Given the description of an element on the screen output the (x, y) to click on. 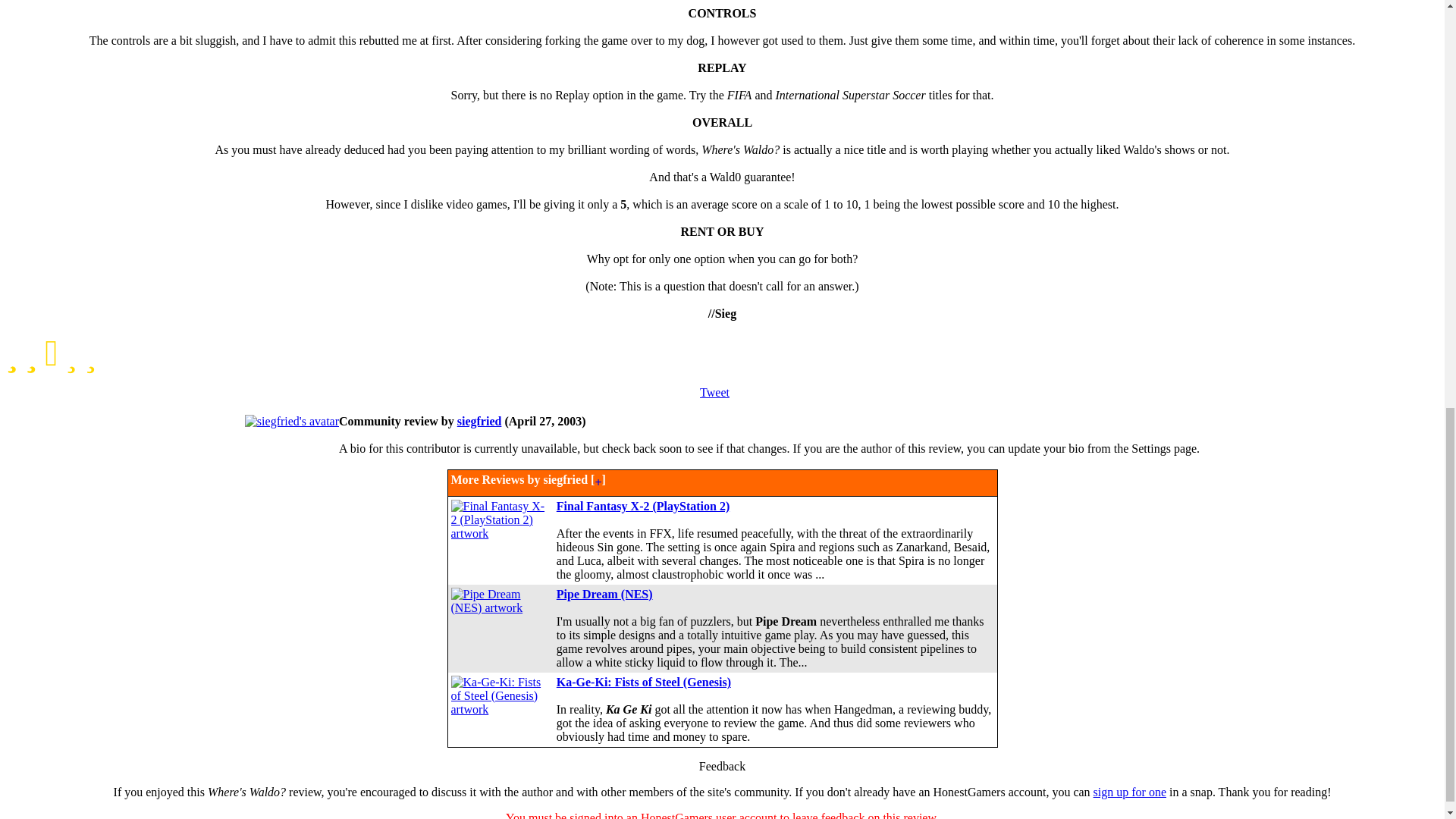
sign up for one (1129, 791)
Tweet (714, 391)
siegfried (479, 420)
